Given the description of an element on the screen output the (x, y) to click on. 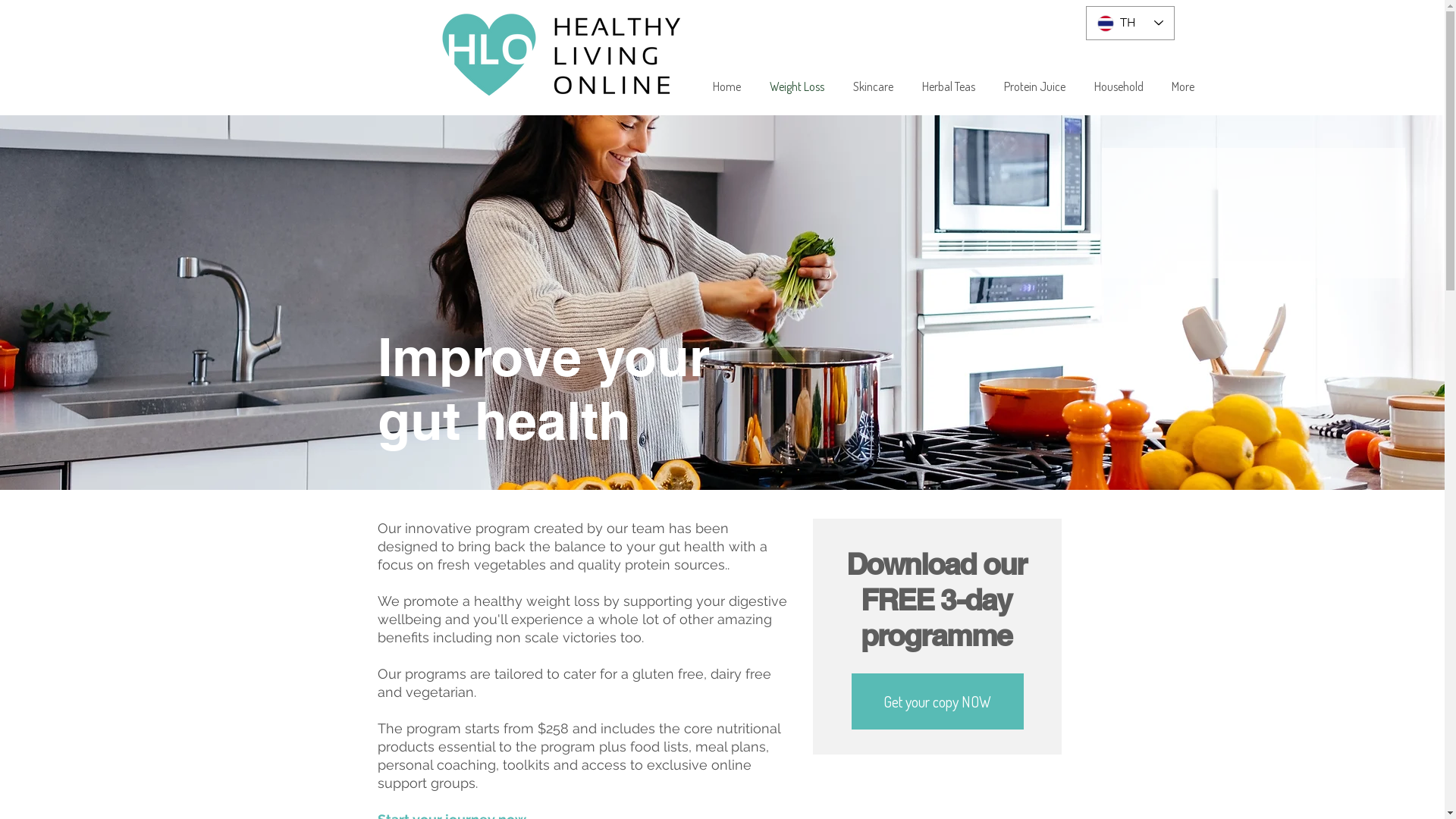
Download our FREE 3-day programme Element type: text (936, 599)
Herbal Teas Element type: text (948, 86)
Home Element type: text (726, 86)
Get your copy NOW Element type: text (936, 701)
Protein Juice Element type: text (1034, 86)
Weight Loss Element type: text (796, 86)
Household Element type: text (1118, 86)
Skincare Element type: text (872, 86)
